Given the description of an element on the screen output the (x, y) to click on. 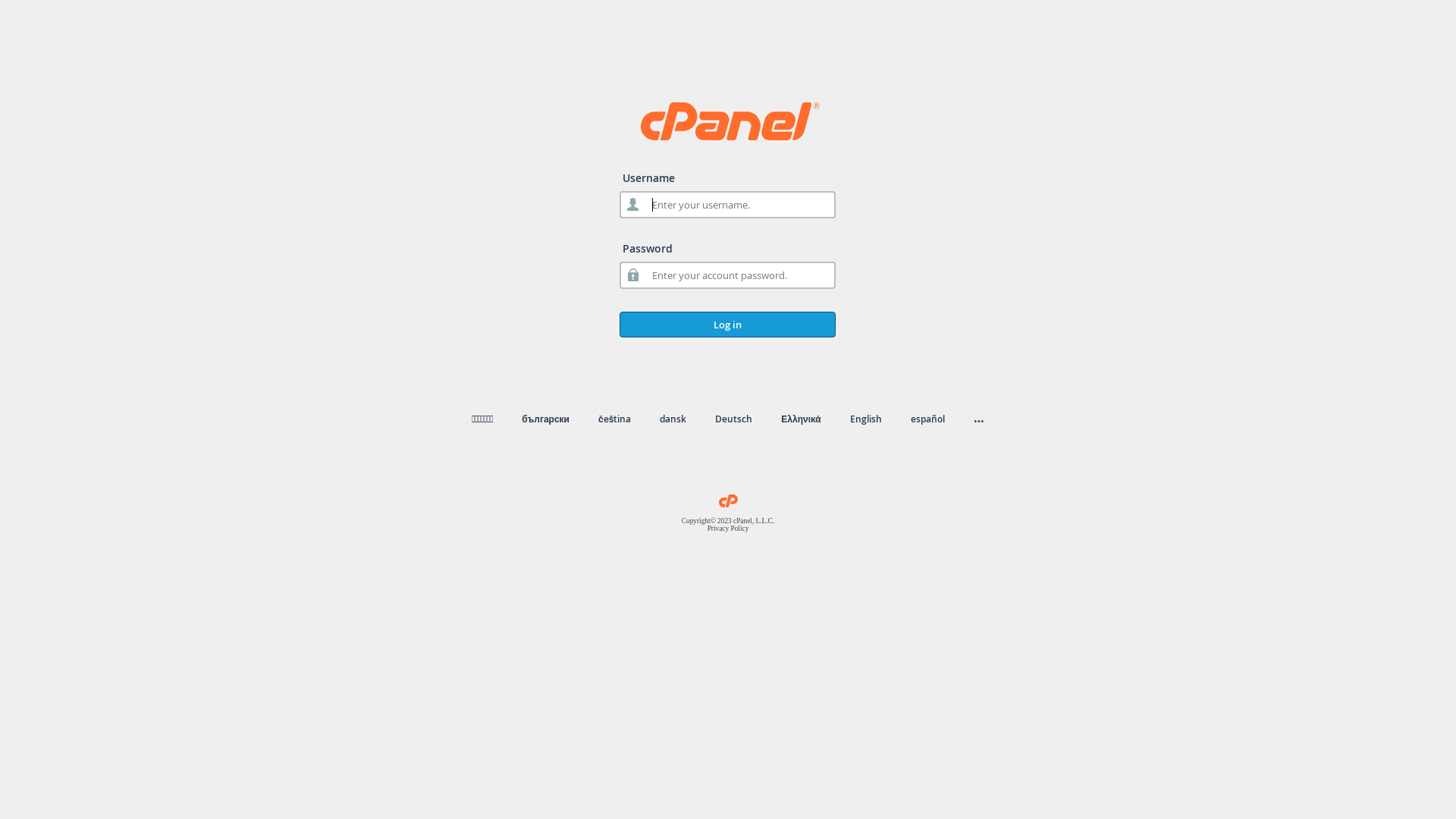
Deutsch Element type: text (733, 418)
dansk Element type: text (672, 418)
Log in Element type: text (727, 324)
English Element type: text (865, 418)
Privacy Policy Element type: text (728, 528)
